Given the description of an element on the screen output the (x, y) to click on. 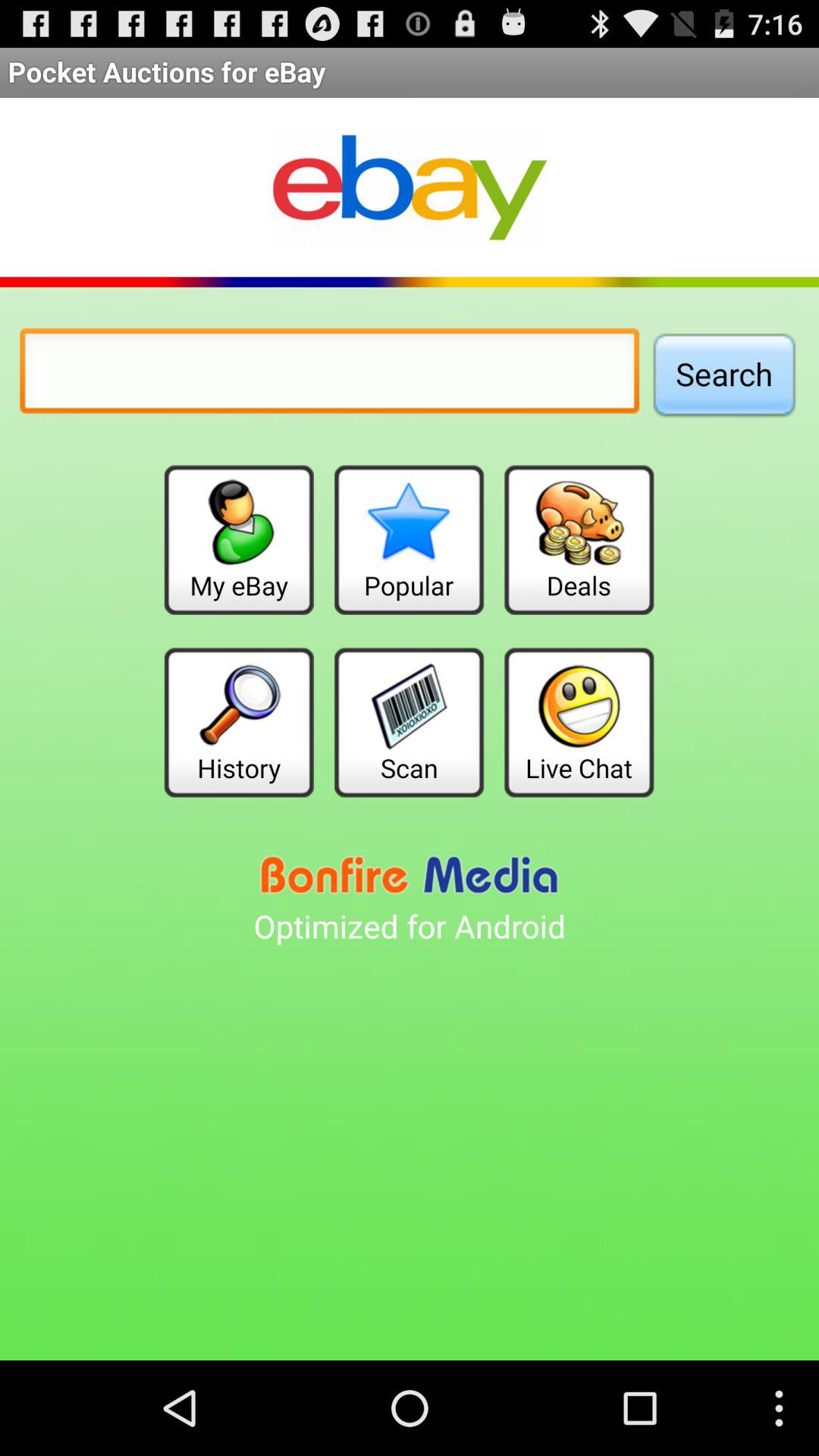
launch the item next to my ebay item (409, 539)
